Given the description of an element on the screen output the (x, y) to click on. 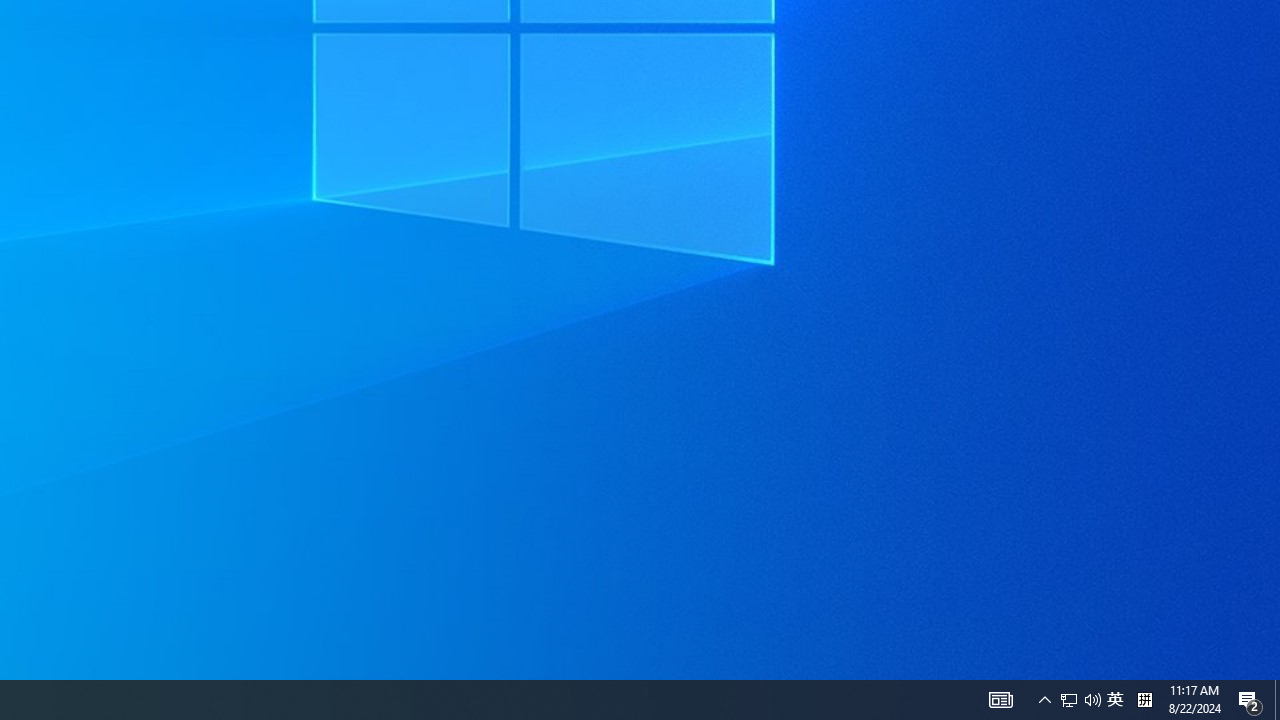
Tray Input Indicator - Chinese (Simplified, China) (1144, 699)
AutomationID: 4105 (1000, 699)
Show desktop (1277, 699)
Action Center, 2 new notifications (1250, 699)
Q2790: 100% (1092, 699)
Notification Chevron (1069, 699)
User Promoted Notification Area (1044, 699)
